Given the description of an element on the screen output the (x, y) to click on. 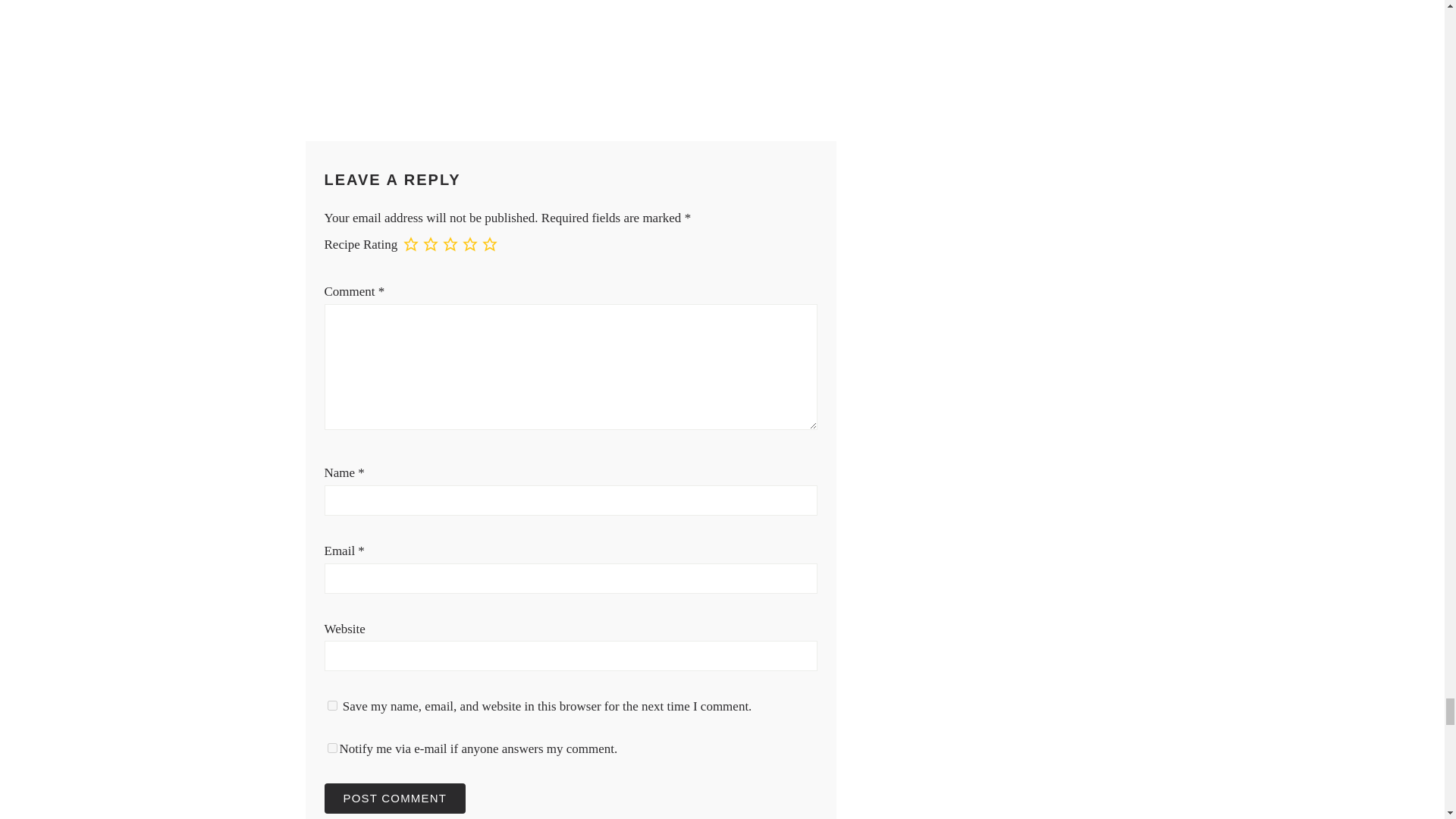
Post Comment (394, 798)
on (332, 747)
yes (332, 705)
